Given the description of an element on the screen output the (x, y) to click on. 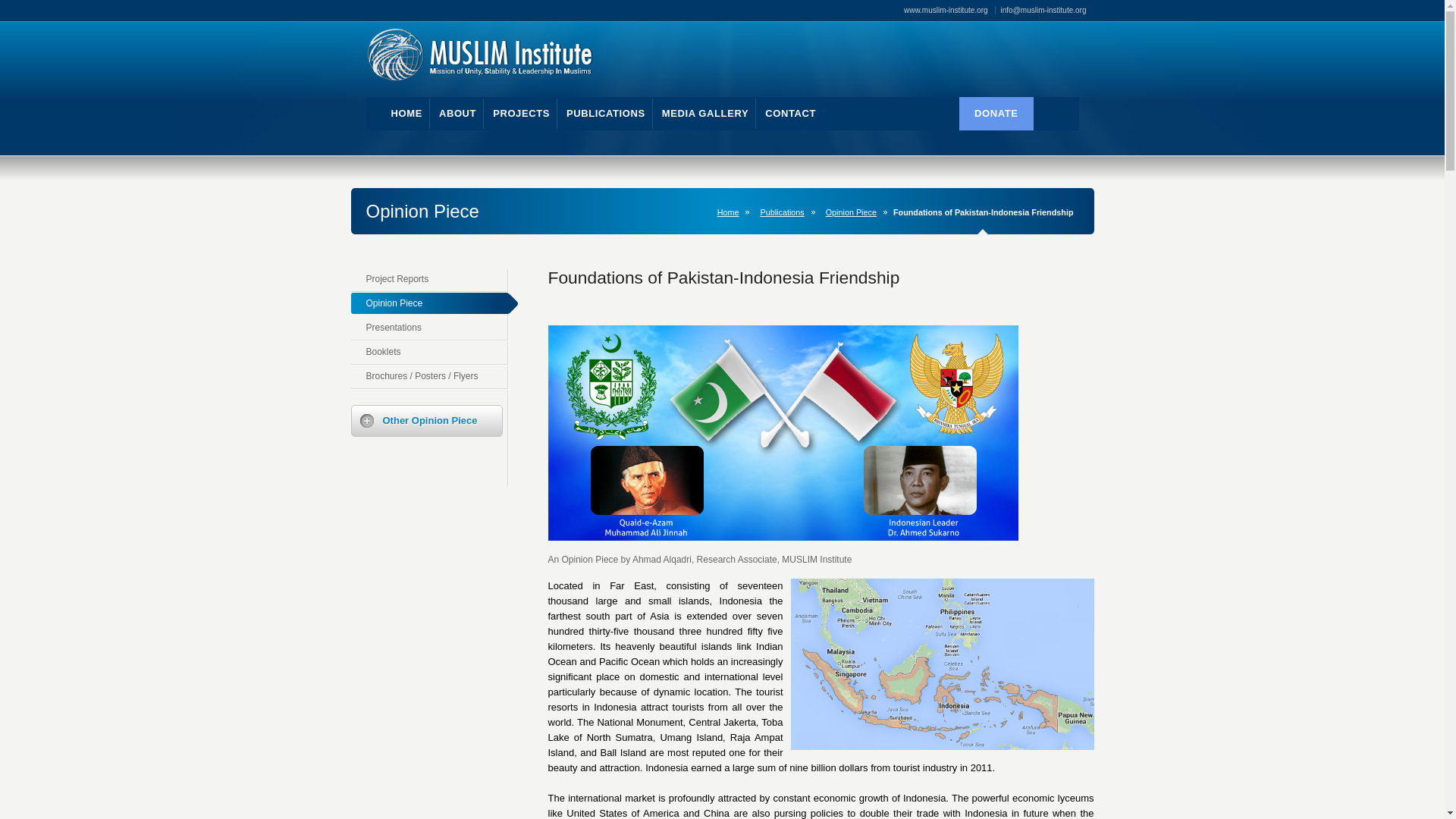
CONTACT (790, 113)
HOME (406, 113)
Publications (784, 212)
www.muslim-institute.org (949, 9)
MEDIA GALLERY (705, 113)
Opinion Piece (854, 212)
Home (731, 212)
MUSLIM Institute (503, 56)
Project Reports (428, 280)
Booklets (428, 353)
